Given the description of an element on the screen output the (x, y) to click on. 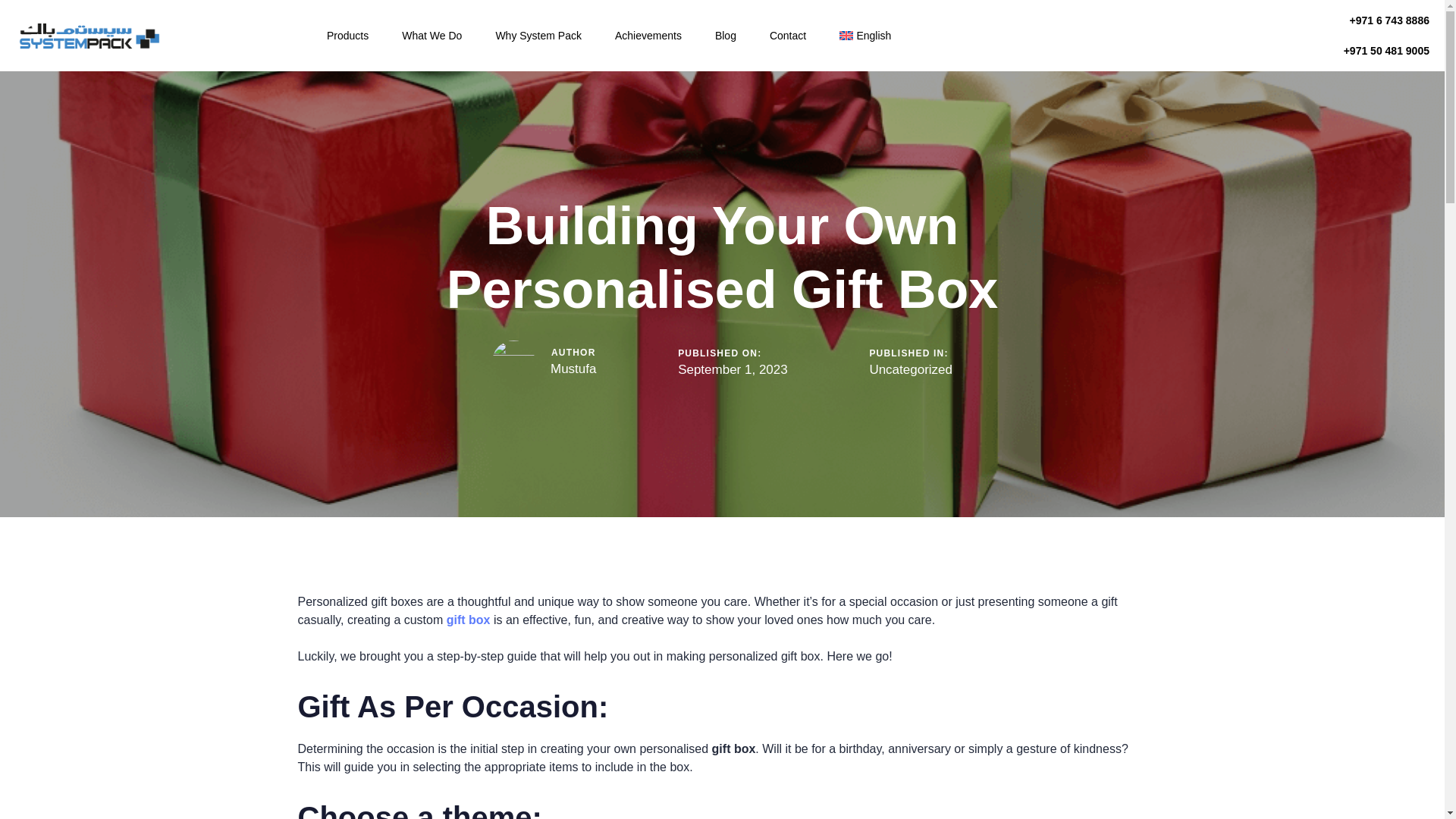
English (864, 35)
Why System Pack (538, 35)
Products (347, 35)
What We Do (432, 35)
English (864, 35)
Contact (787, 35)
Achievements (648, 35)
Posts by Mustufa (572, 368)
